Given the description of an element on the screen output the (x, y) to click on. 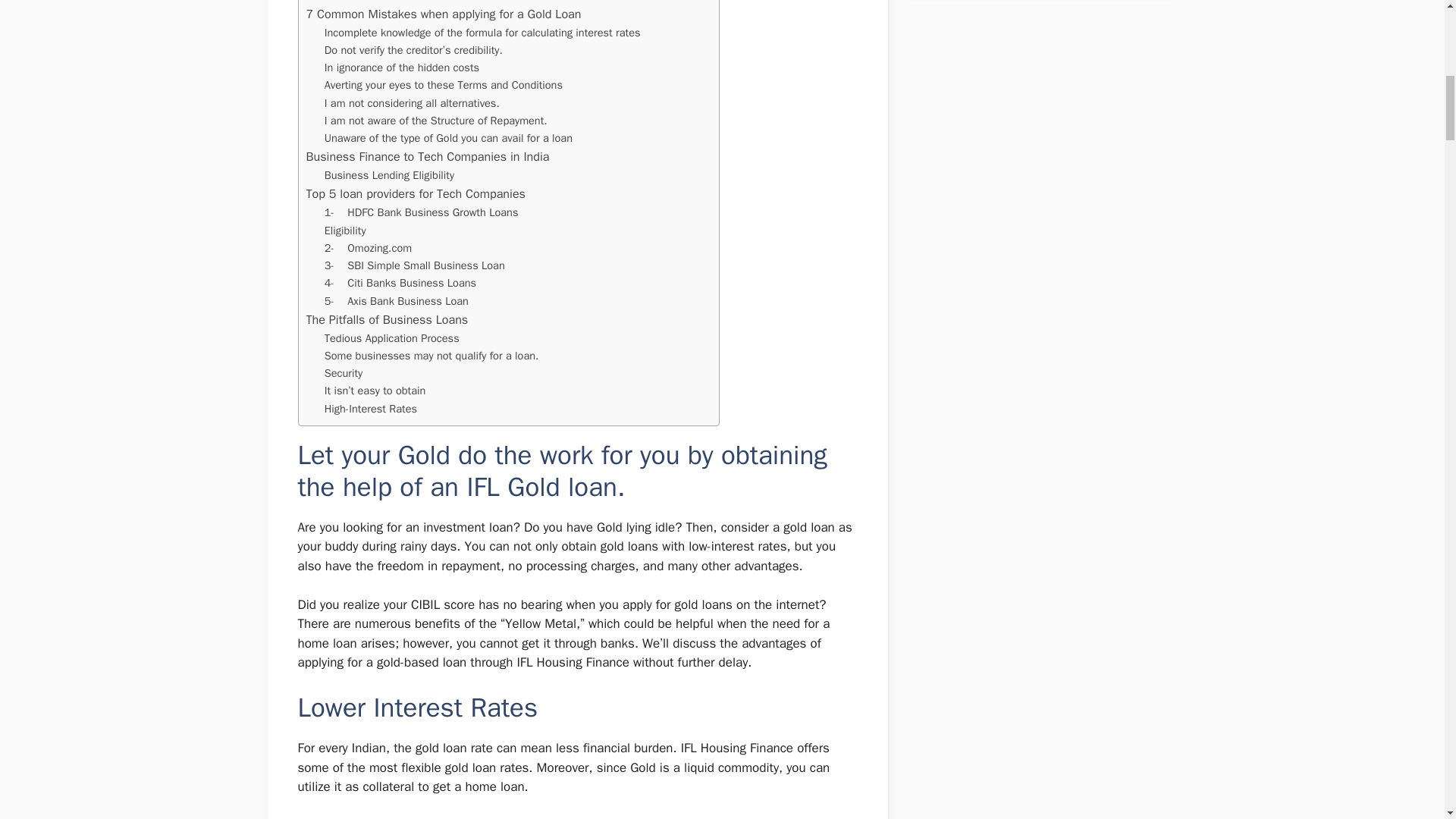
Top 5 loan providers for Tech Companies (415, 193)
Unaware of the type of Gold you can avail for a loan (448, 138)
OUR MISSION, VISION, and VALUES (415, 2)
Eligibility (345, 230)
Averting your eyes to these Terms and Conditions (443, 85)
5-    Axis Bank Business Loan (396, 301)
In ignorance of the hidden costs (401, 67)
Business Finance to Tech Companies in India (427, 157)
2-    Omozing.com (368, 248)
3-    SBI Simple Small Business Loan (414, 265)
